Given the description of an element on the screen output the (x, y) to click on. 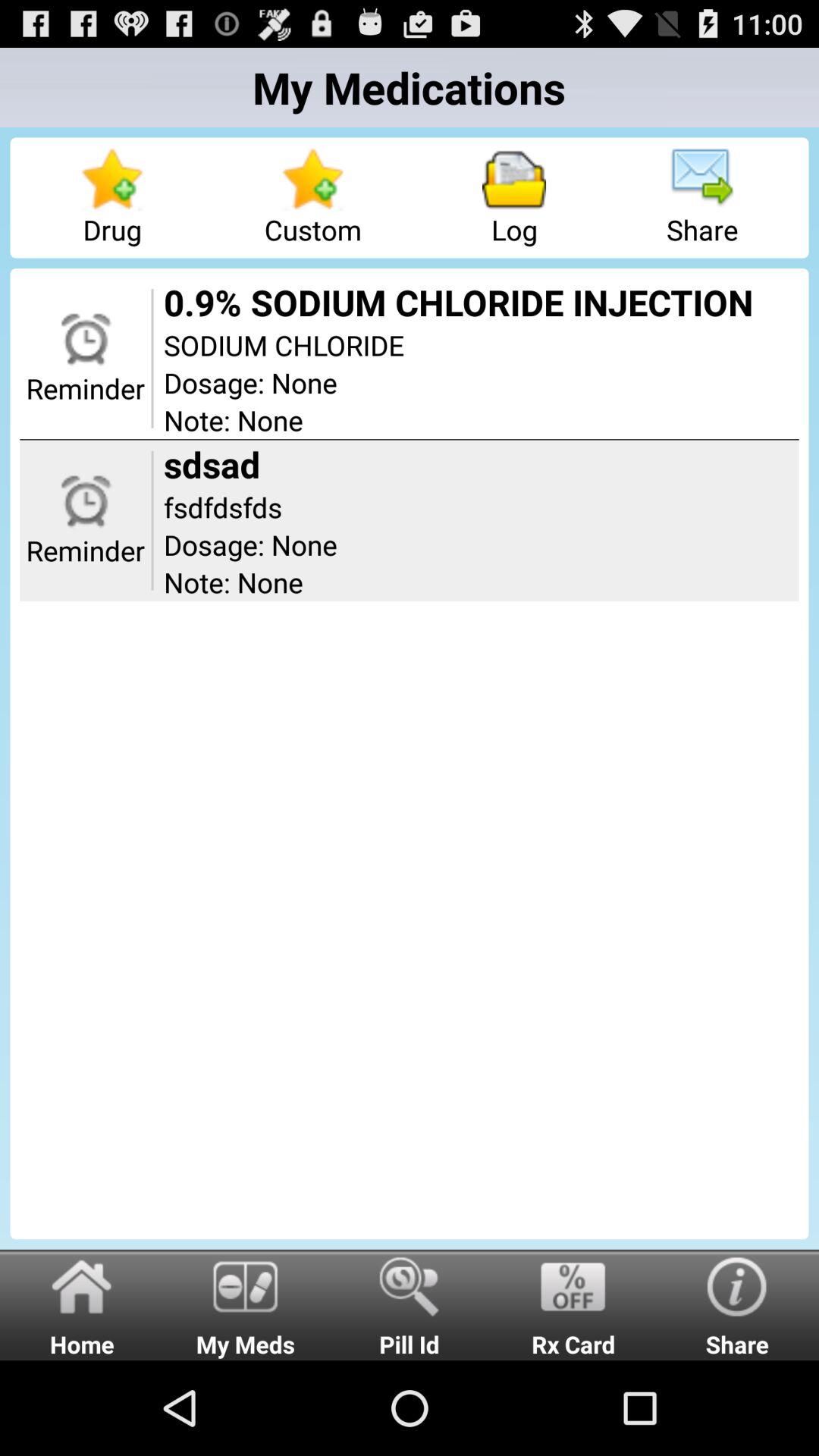
tap icon next to my meds (81, 1304)
